Given the description of an element on the screen output the (x, y) to click on. 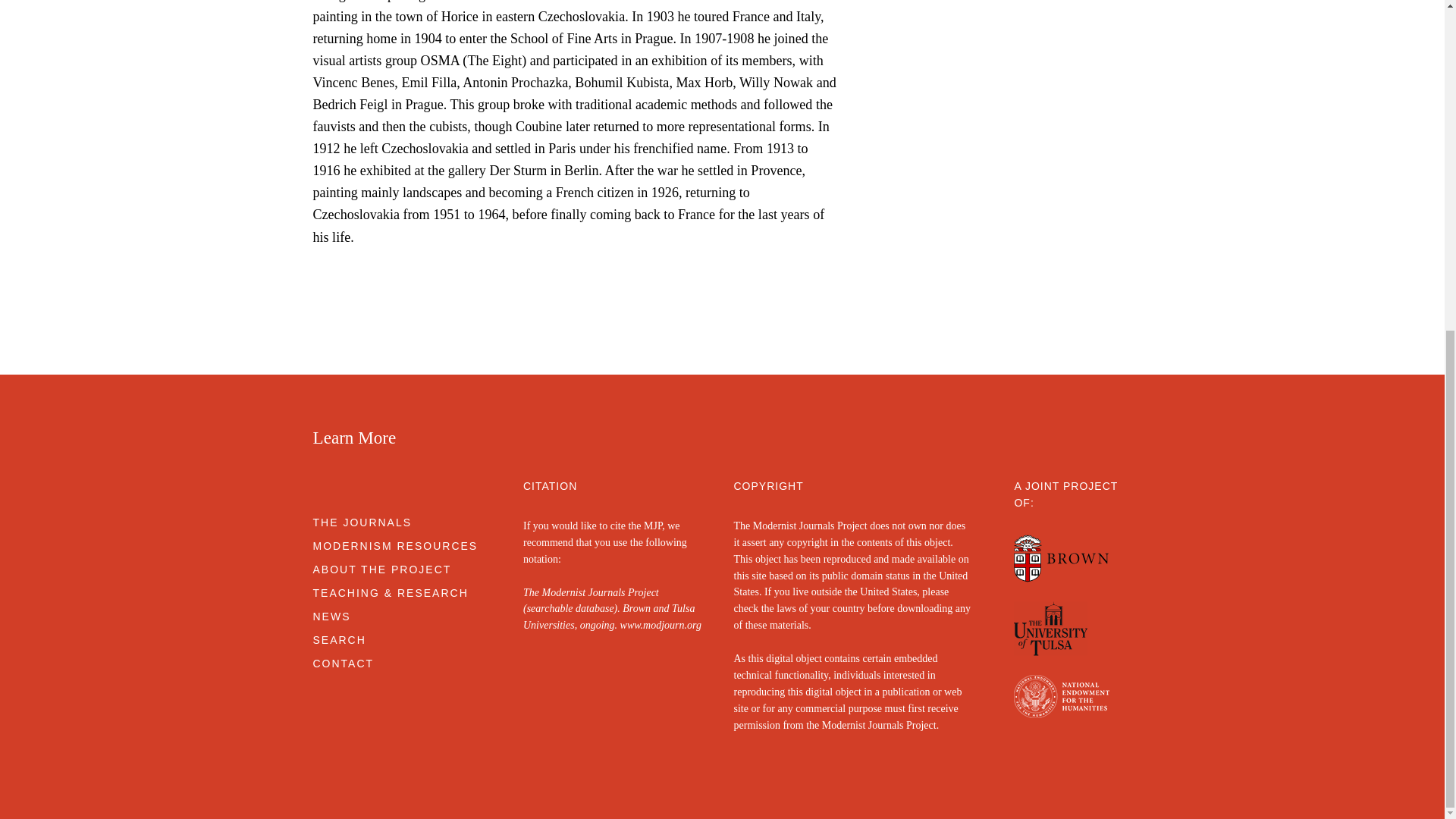
MODERNISM RESOURCES (395, 545)
ABOUT THE PROJECT (382, 569)
NEWS (331, 616)
www.modjourn.org (660, 624)
CONTACT (343, 663)
SEARCH (339, 639)
THE JOURNALS (362, 522)
